Given the description of an element on the screen output the (x, y) to click on. 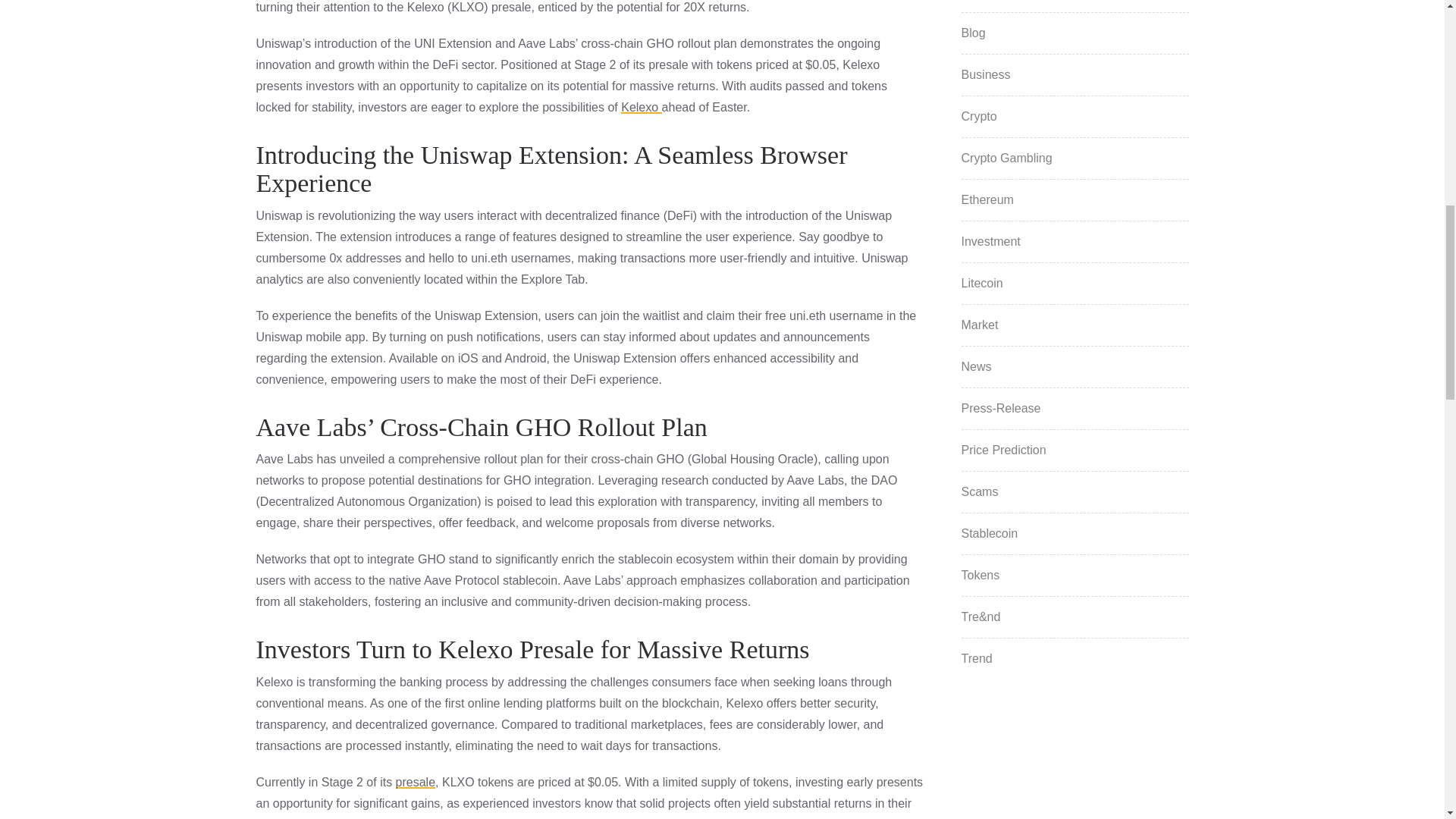
presale (415, 780)
Kelexo (641, 106)
